Given the description of an element on the screen output the (x, y) to click on. 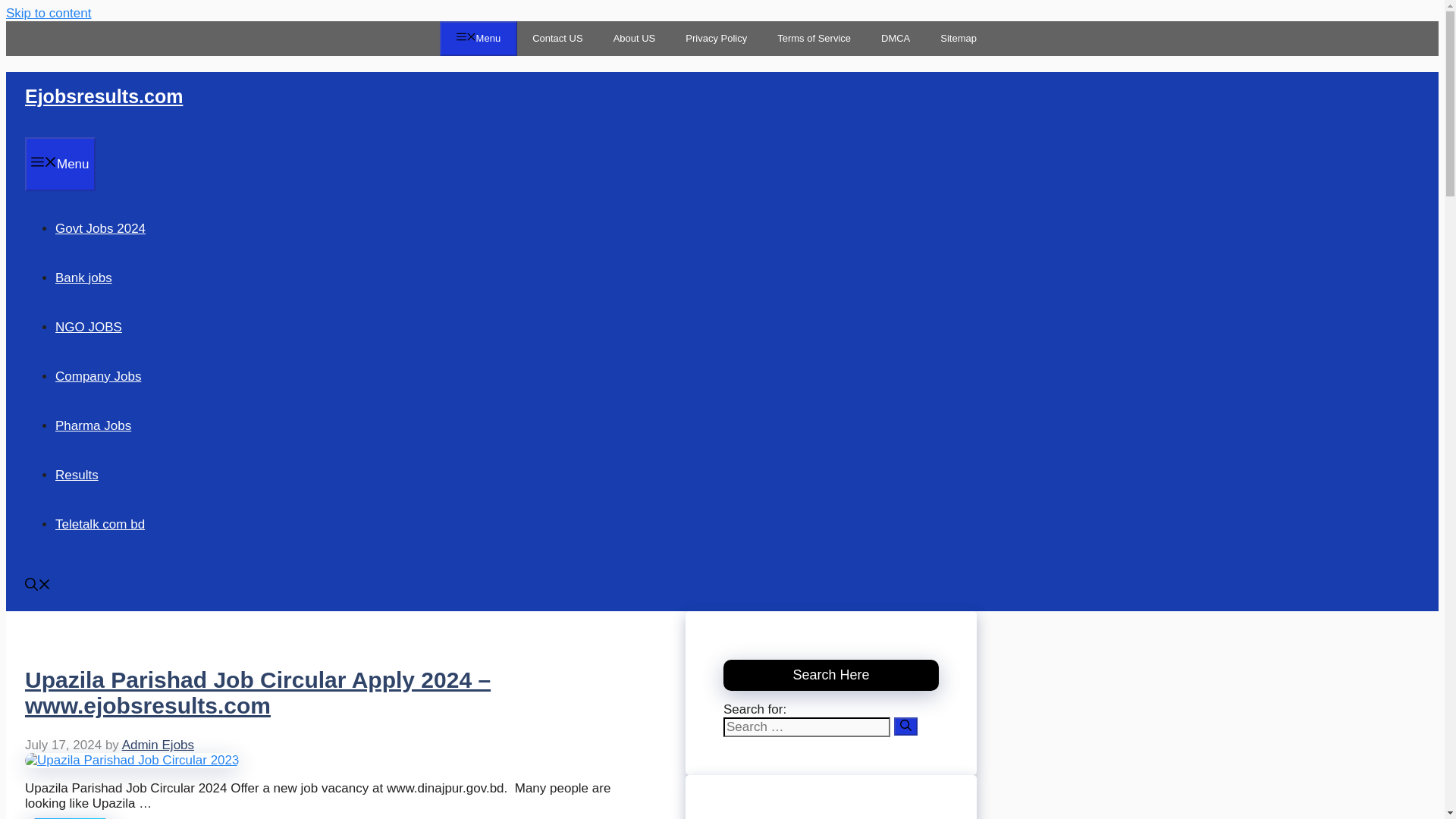
Terms of Service (813, 38)
Menu (60, 163)
Skip to content (47, 12)
NGO JOBS (88, 327)
Results (77, 473)
Skip to content (47, 12)
Privacy Policy (715, 38)
Pharma Jobs (93, 425)
Ejobsresults.com (103, 96)
Bank jobs (83, 277)
View all posts by Admin Ejobs (157, 744)
Company Jobs (98, 375)
About US (634, 38)
Sitemap (957, 38)
